Given the description of an element on the screen output the (x, y) to click on. 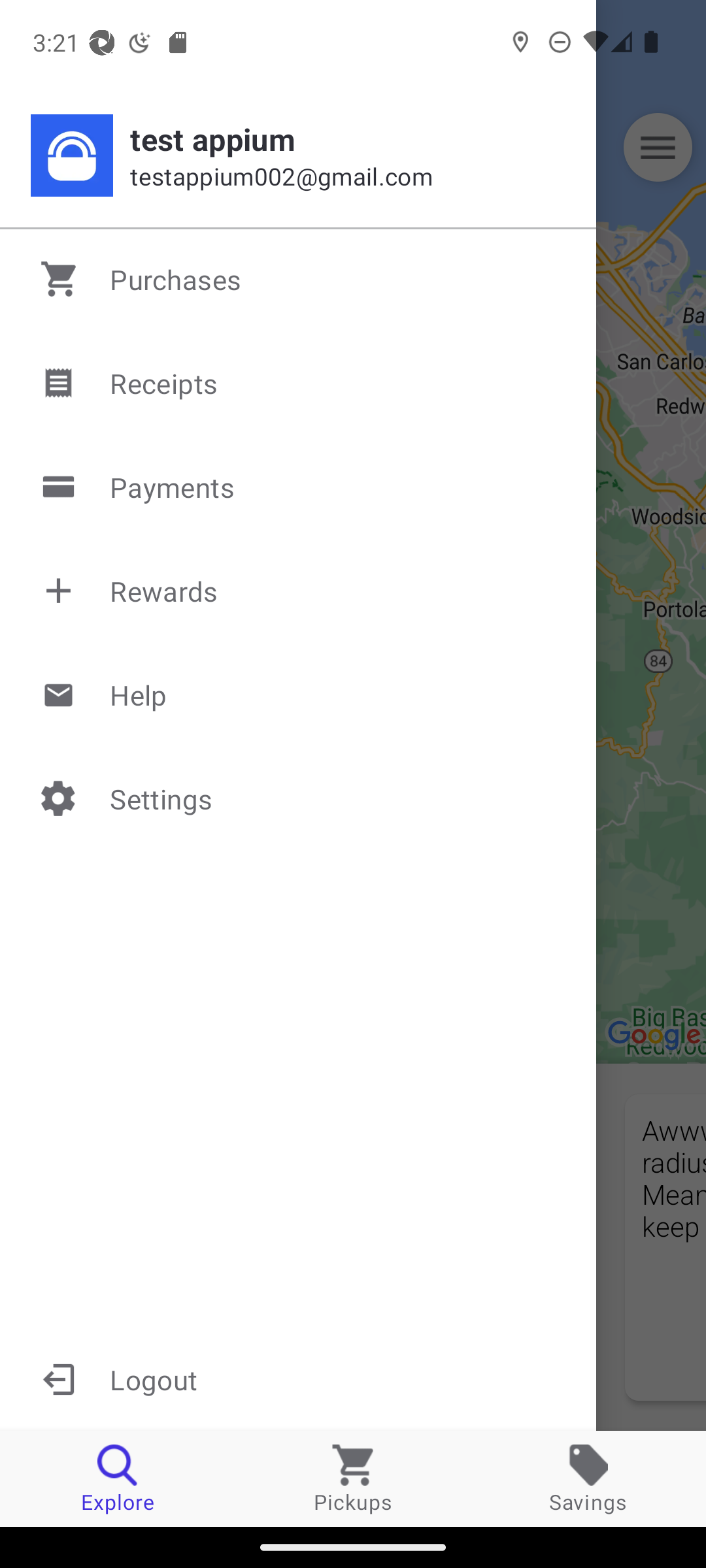
Purchases (299, 278)
Receipts (299, 382)
Payments (299, 487)
Rewards (299, 590)
Help (299, 694)
Settings (299, 797)
Logout (297, 1379)
Pickups (352, 1478)
Savings (588, 1478)
